Given the description of an element on the screen output the (x, y) to click on. 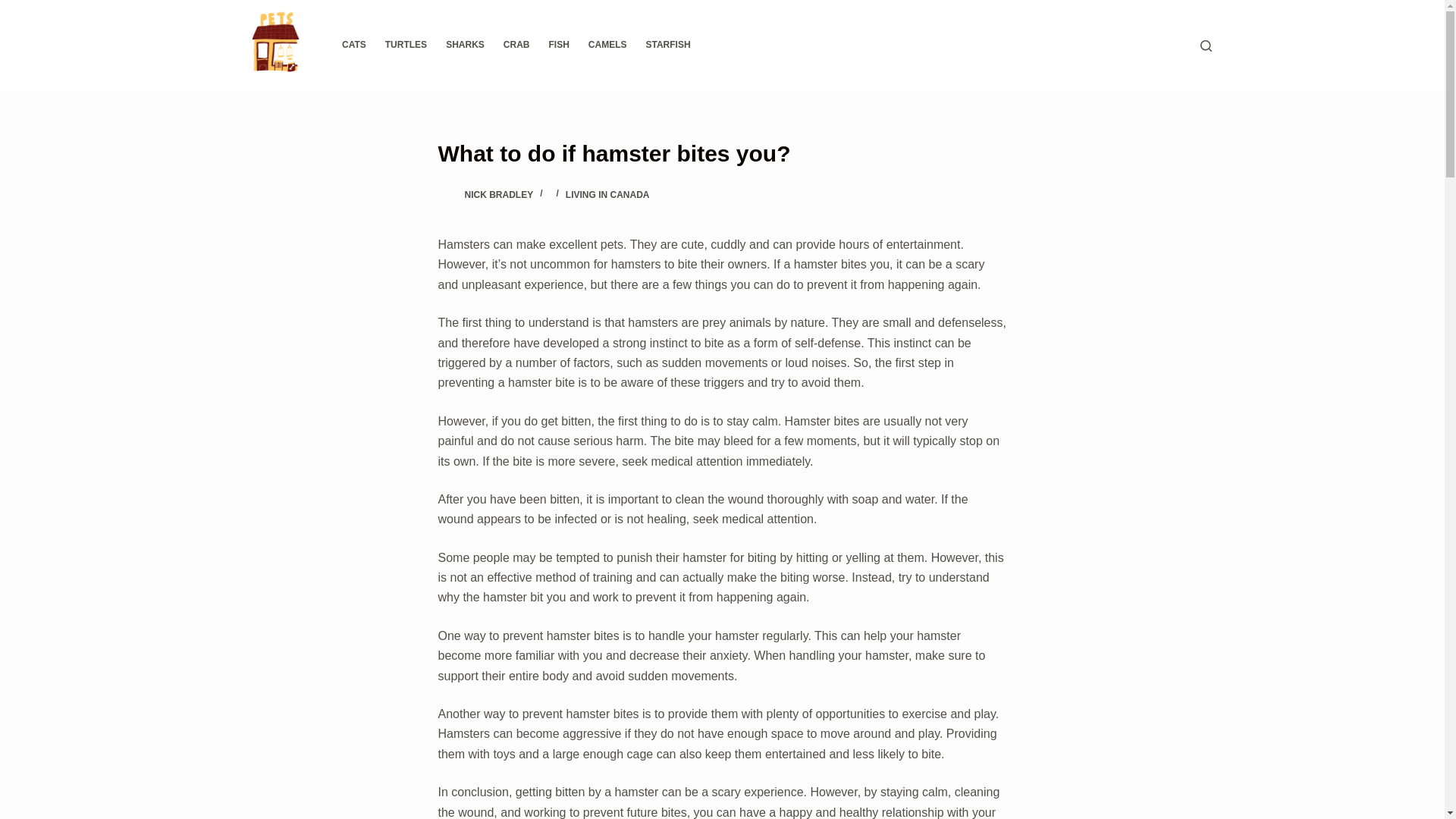
What to do if hamster bites you? (722, 153)
Skip to content (15, 7)
NICK BRADLEY (498, 194)
Posts by Nick Bradley (498, 194)
LIVING IN CANADA (607, 194)
